Given the description of an element on the screen output the (x, y) to click on. 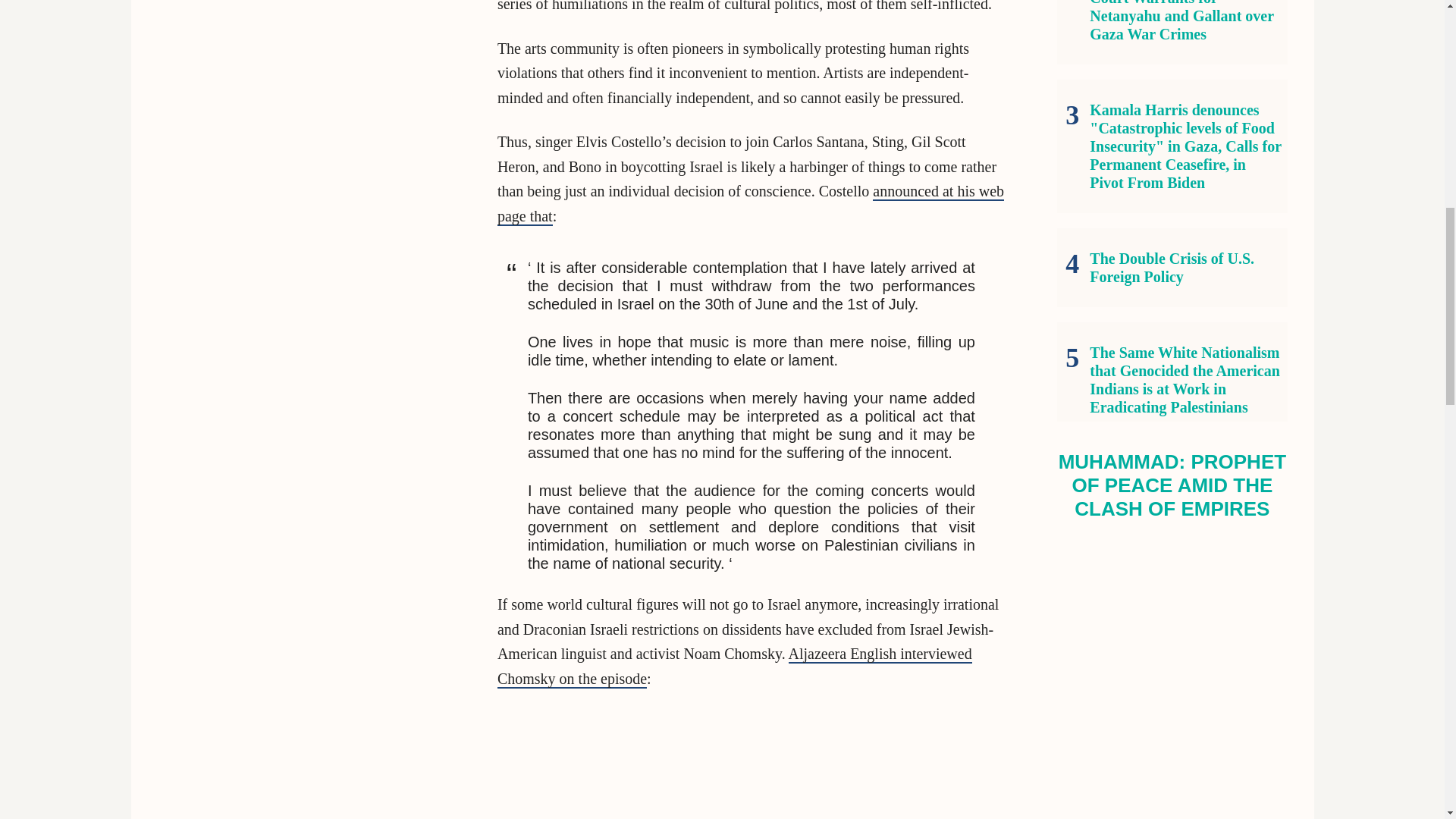
Aljazeera English interviewed Chomsky on the episode (734, 666)
announced at his web page that (750, 204)
